Given the description of an element on the screen output the (x, y) to click on. 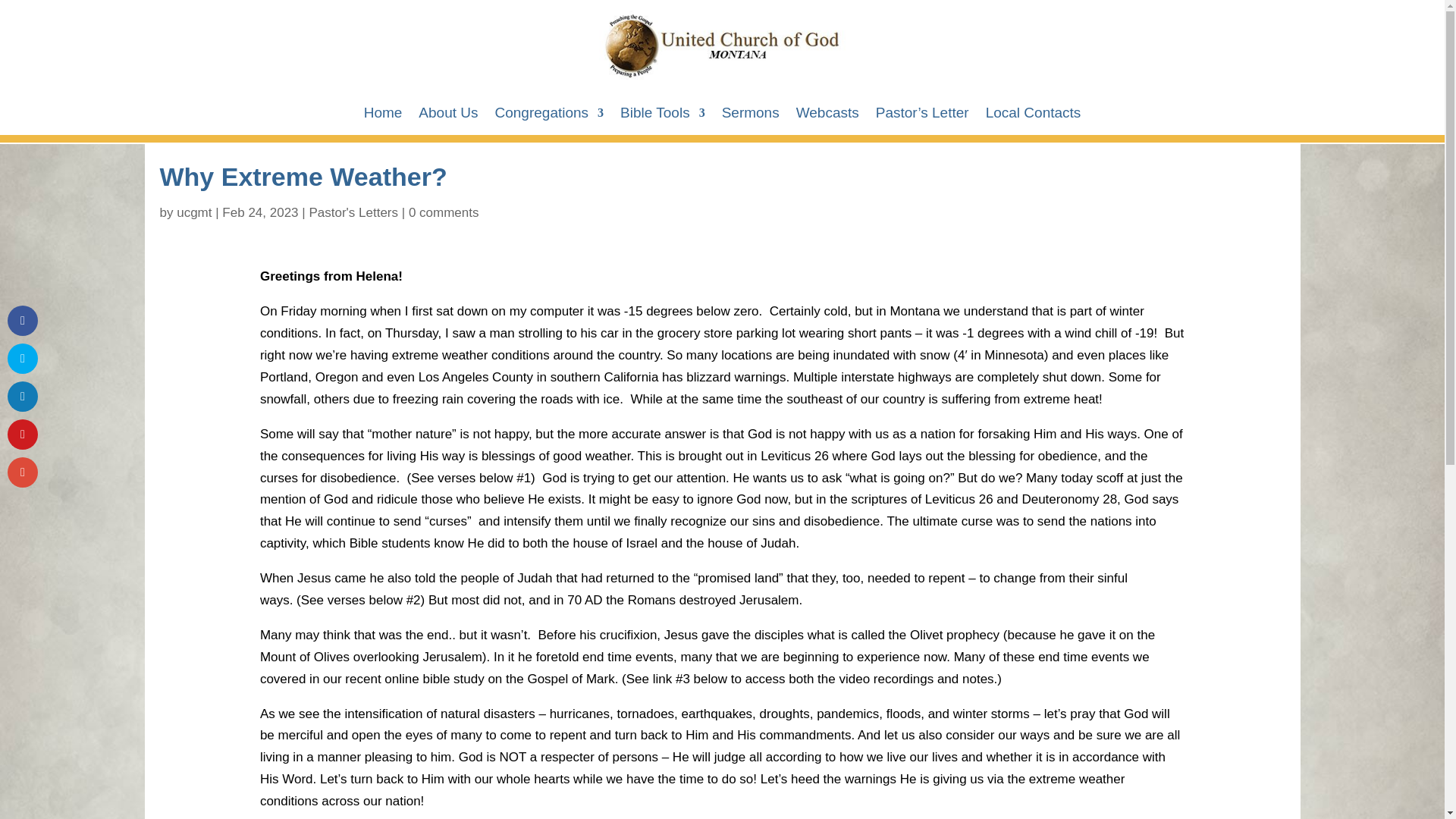
About Us (448, 115)
Congregations (549, 115)
Bible Tools (662, 115)
Pastor's Letters (352, 212)
Webcasts (827, 115)
United Church of God - Montana (721, 45)
Sermons (750, 115)
Local Contacts (1033, 115)
ucgmt (193, 212)
Home (383, 115)
